Given the description of an element on the screen output the (x, y) to click on. 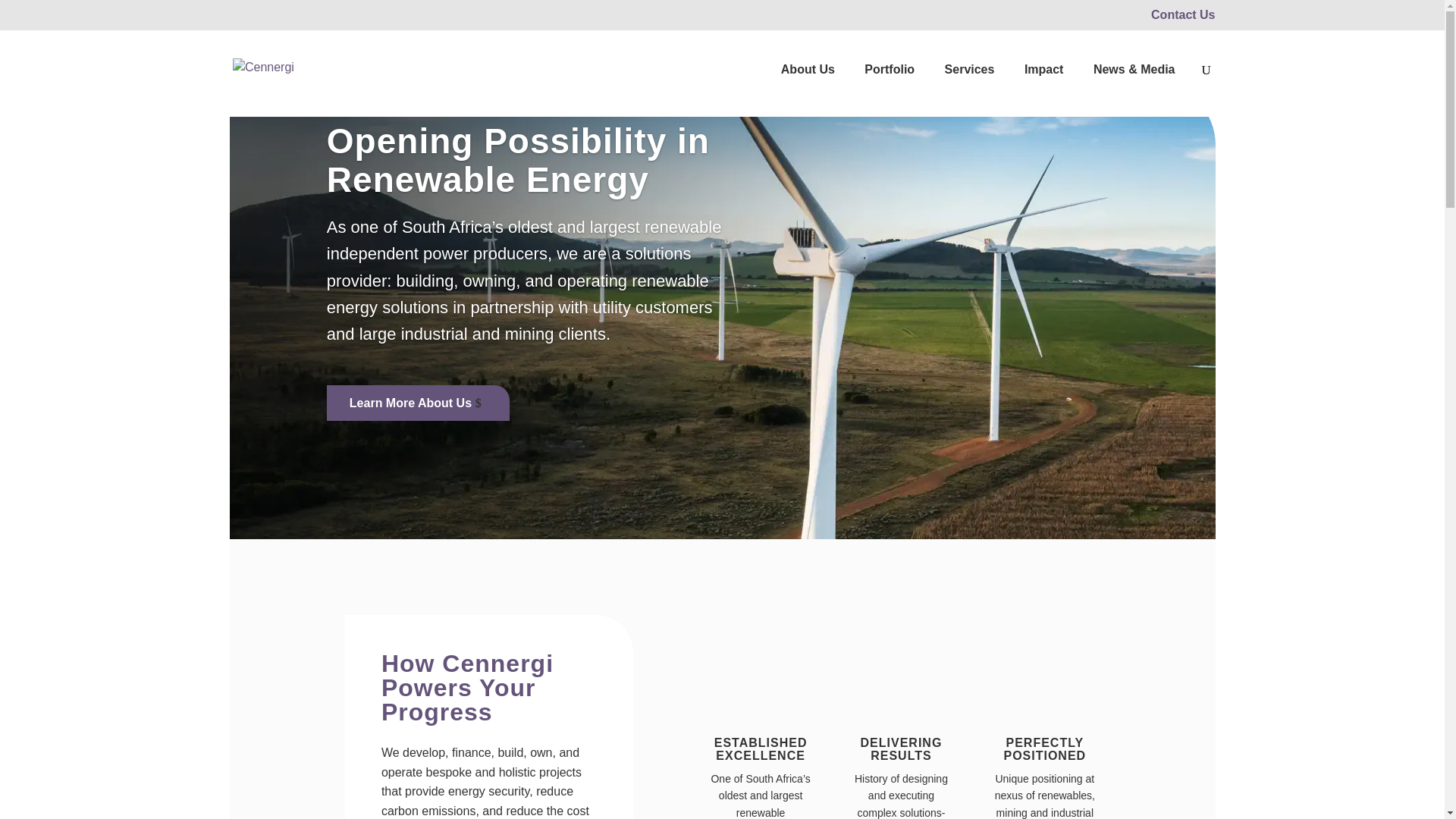
Services (969, 90)
About Us (807, 90)
Portfolio (889, 90)
Contact Us (1182, 19)
